Given the description of an element on the screen output the (x, y) to click on. 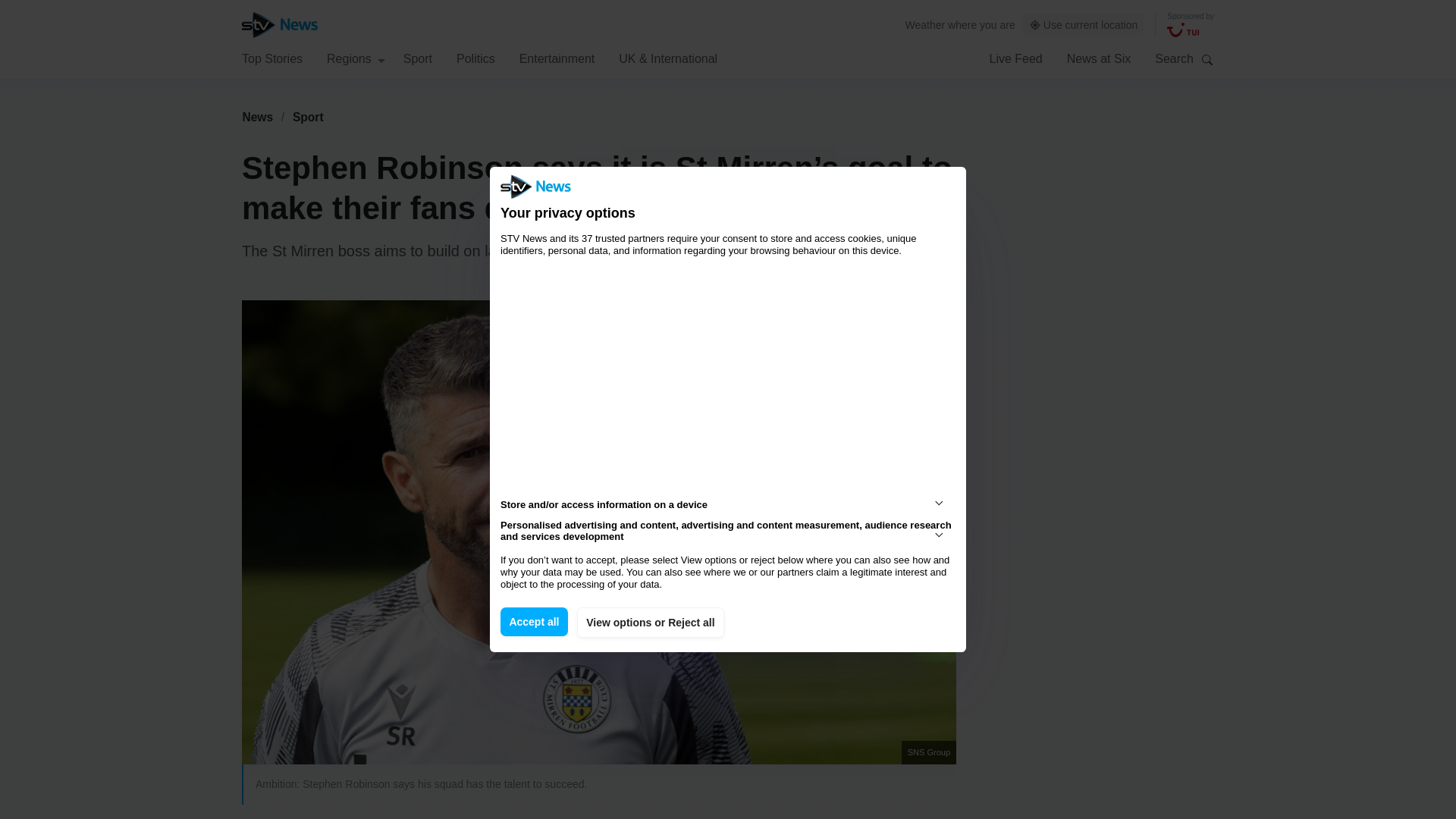
Live Feed (1015, 57)
Entertainment (557, 57)
Regions (355, 57)
News (257, 116)
Top Stories (271, 57)
Search (1206, 59)
Sport (308, 116)
Weather (924, 24)
Use current location (1083, 25)
News at Six (1099, 57)
Politics (476, 57)
